Given the description of an element on the screen output the (x, y) to click on. 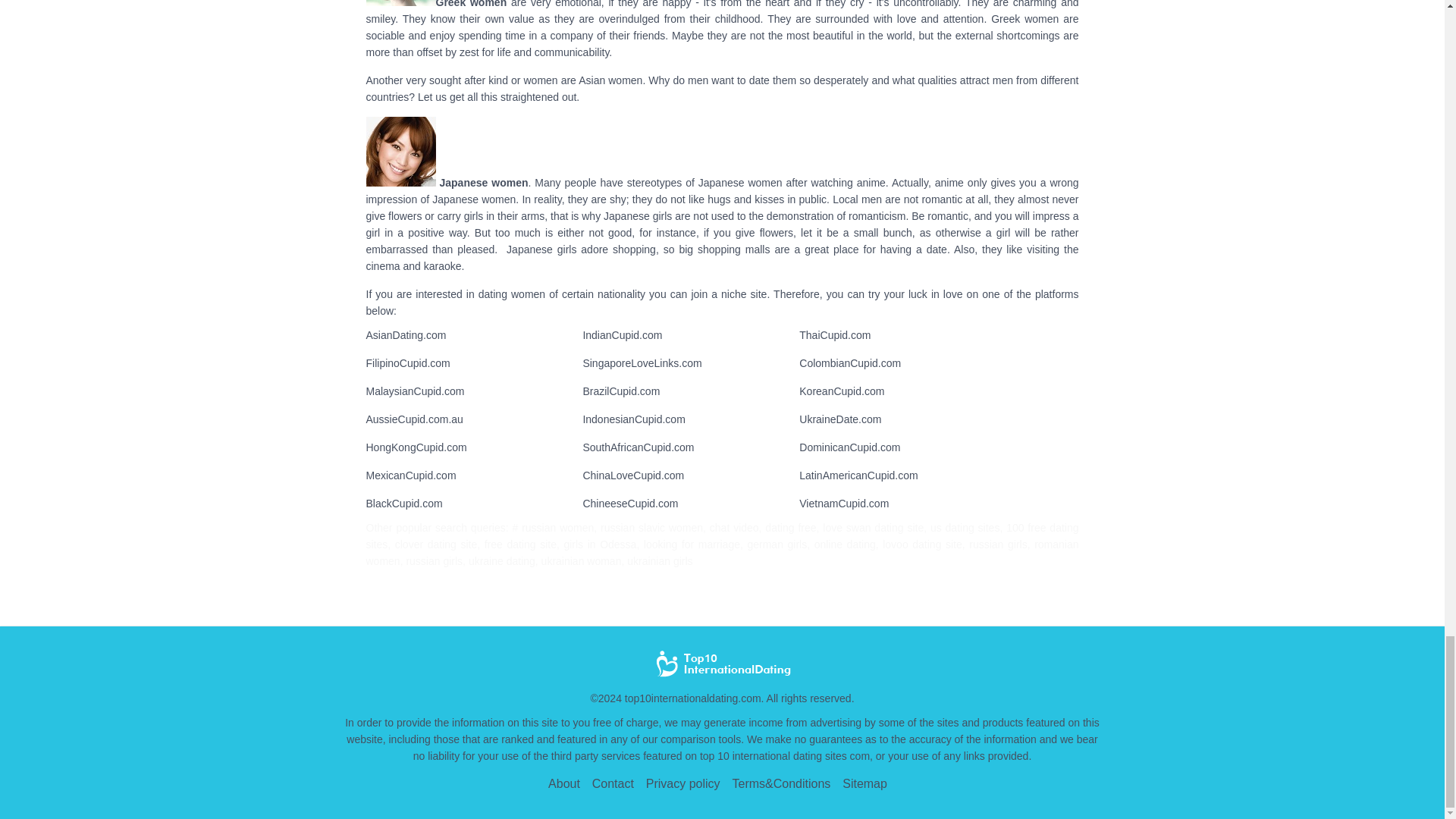
japaneese girls (400, 151)
About (563, 783)
russian slavic women (721, 663)
Contact (612, 783)
Sitemap (864, 783)
greek girls (400, 2)
Privacy policy (683, 783)
